Given the description of an element on the screen output the (x, y) to click on. 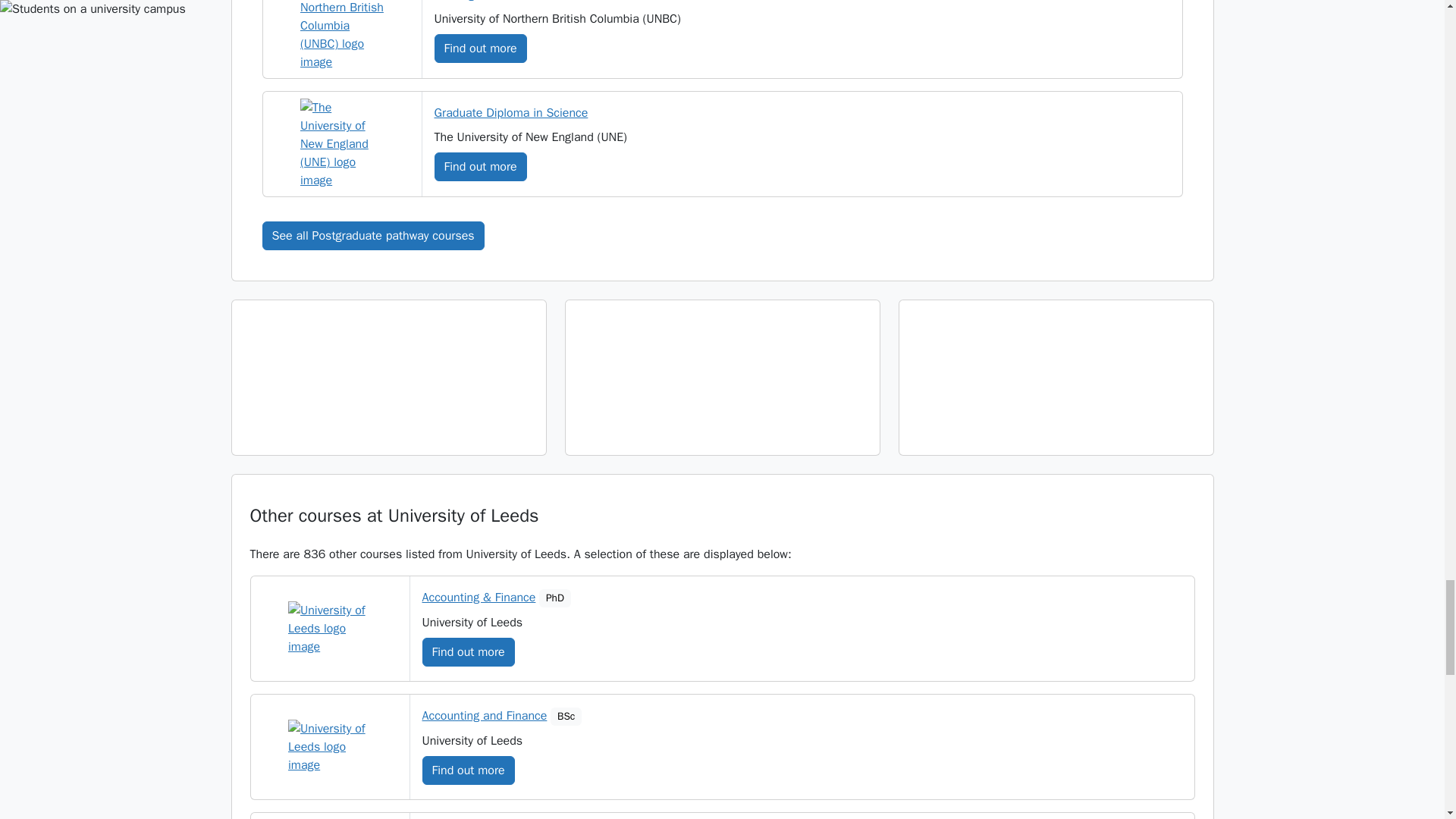
University of Leeds (329, 628)
University of Leeds (329, 746)
